Given the description of an element on the screen output the (x, y) to click on. 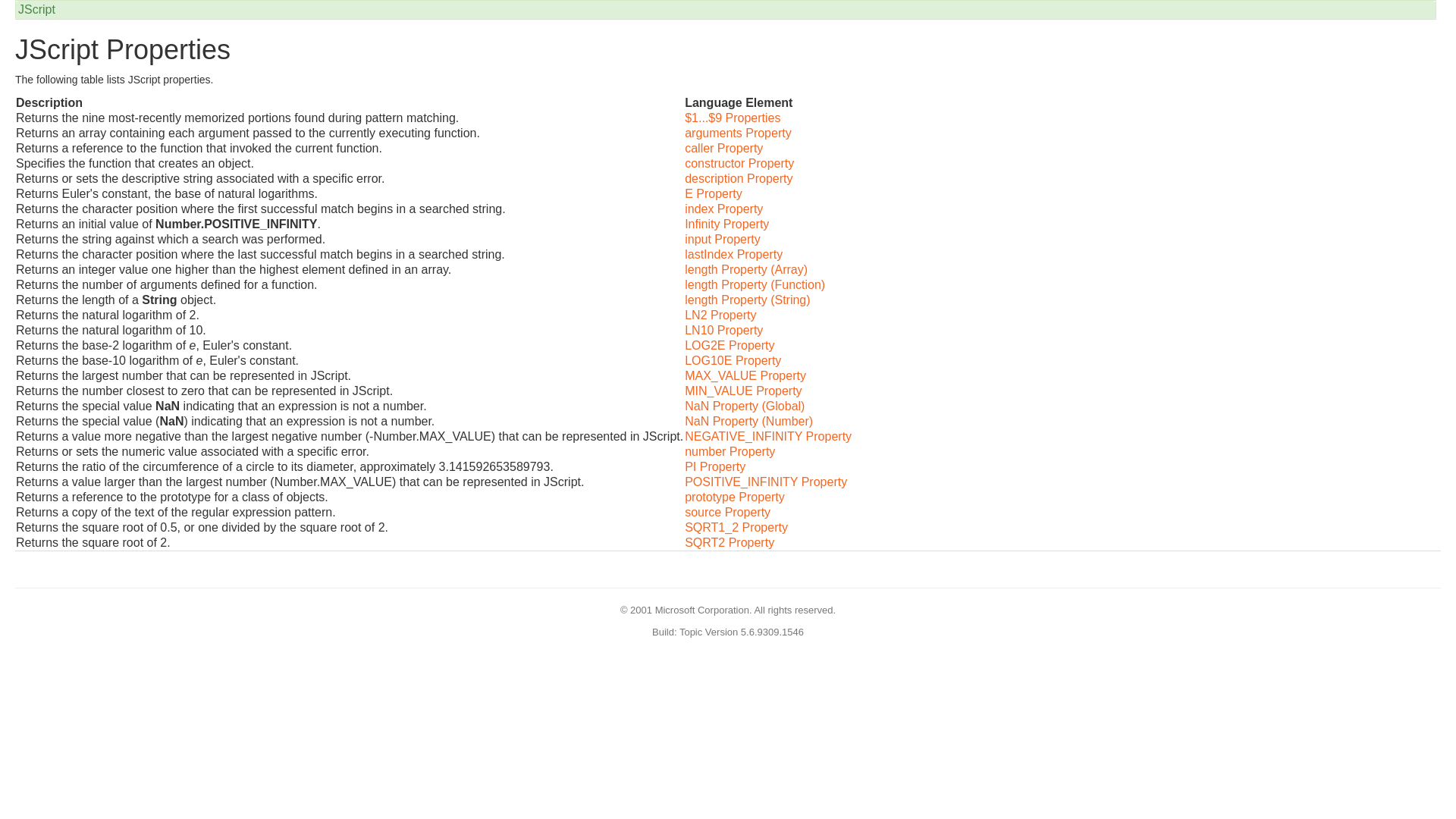
PI Property (714, 466)
LN2 Property (719, 314)
E Property (713, 193)
LN10 Property (723, 329)
number Property (729, 451)
LOG10E Property (732, 359)
index Property (723, 208)
input Property (722, 238)
arguments Property (738, 132)
Infinity Property (726, 223)
caller Property (723, 147)
source Property (727, 512)
constructor Property (738, 163)
prototype Property (734, 496)
description Property (738, 178)
